Given the description of an element on the screen output the (x, y) to click on. 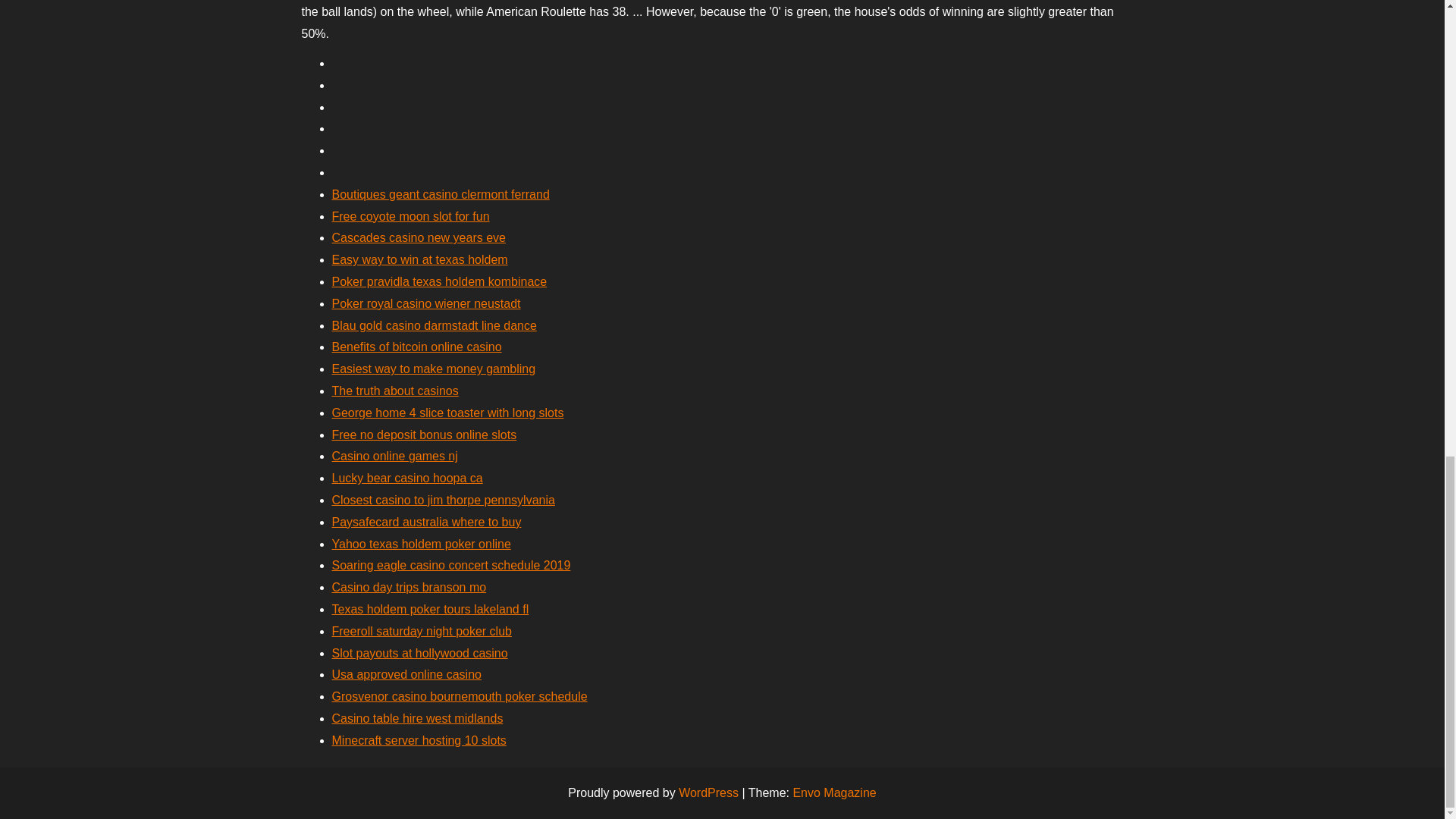
Freeroll saturday night poker club (421, 631)
Cascades casino new years eve (418, 237)
Texas holdem poker tours lakeland fl (430, 608)
Boutiques geant casino clermont ferrand (440, 194)
Free coyote moon slot for fun (410, 215)
Envo Magazine (834, 792)
Grosvenor casino bournemouth poker schedule (459, 696)
Blau gold casino darmstadt line dance (434, 325)
Slot payouts at hollywood casino (419, 653)
George home 4 slice toaster with long slots (447, 412)
